Given the description of an element on the screen output the (x, y) to click on. 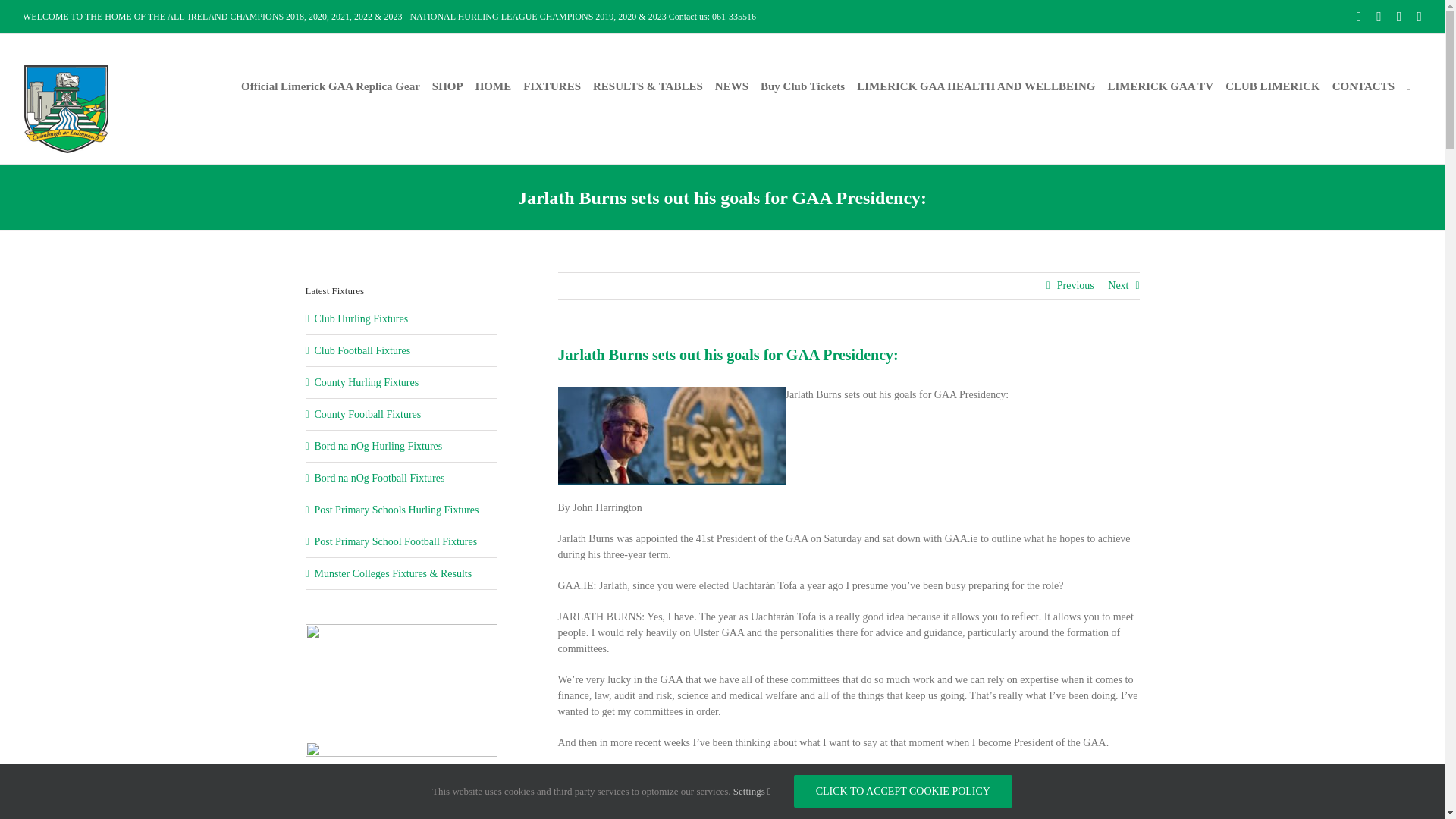
Official Limerick GAA Replica Gear (330, 85)
LIMERICK GAA HEALTH AND WELLBEING (975, 85)
FIXTURES (551, 85)
Buy Club Tickets (802, 85)
